Given the description of an element on the screen output the (x, y) to click on. 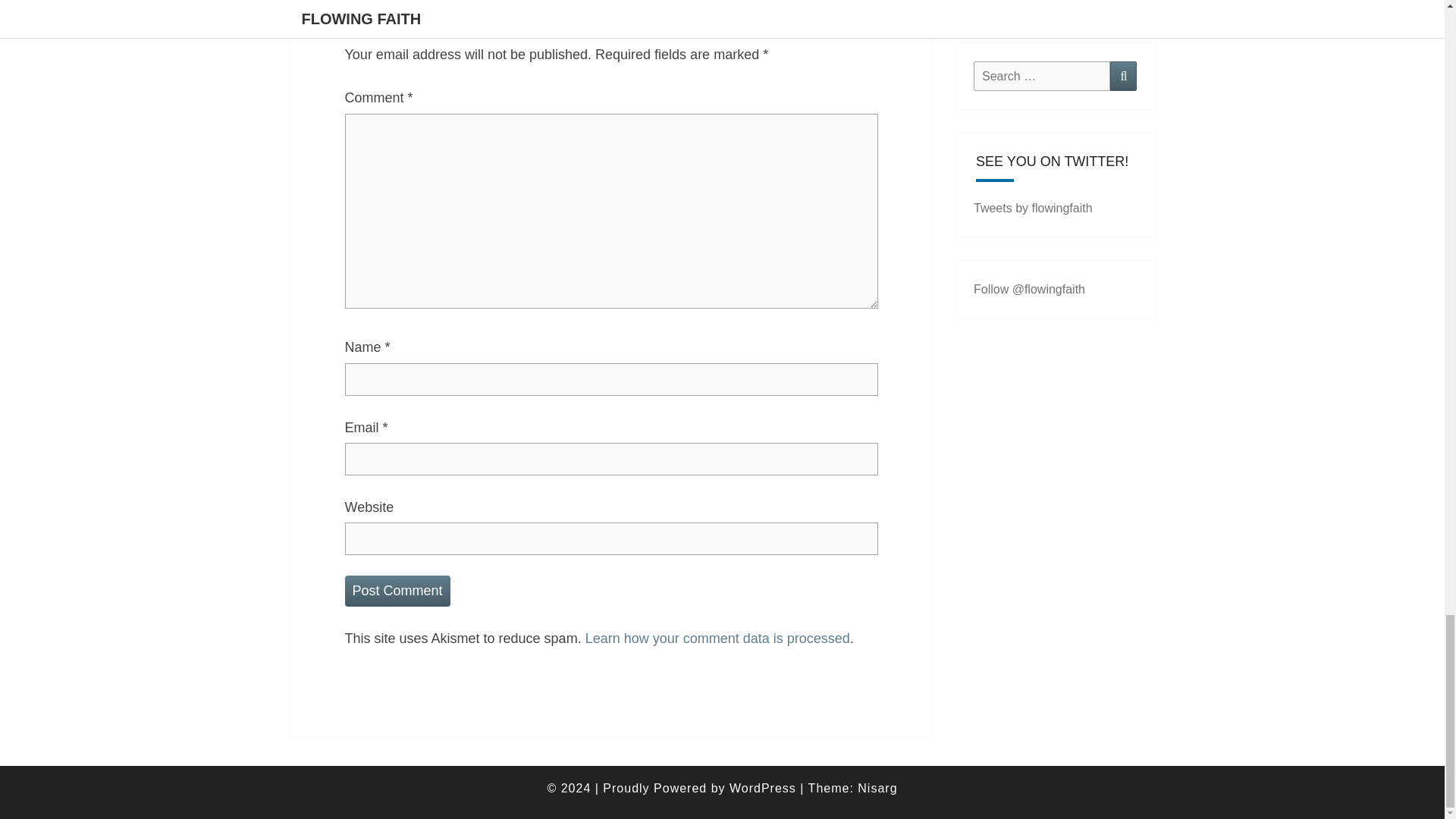
Post Comment (396, 590)
Learn how your comment data is processed (717, 638)
Search for: (1041, 75)
Post Comment (396, 590)
